Given the description of an element on the screen output the (x, y) to click on. 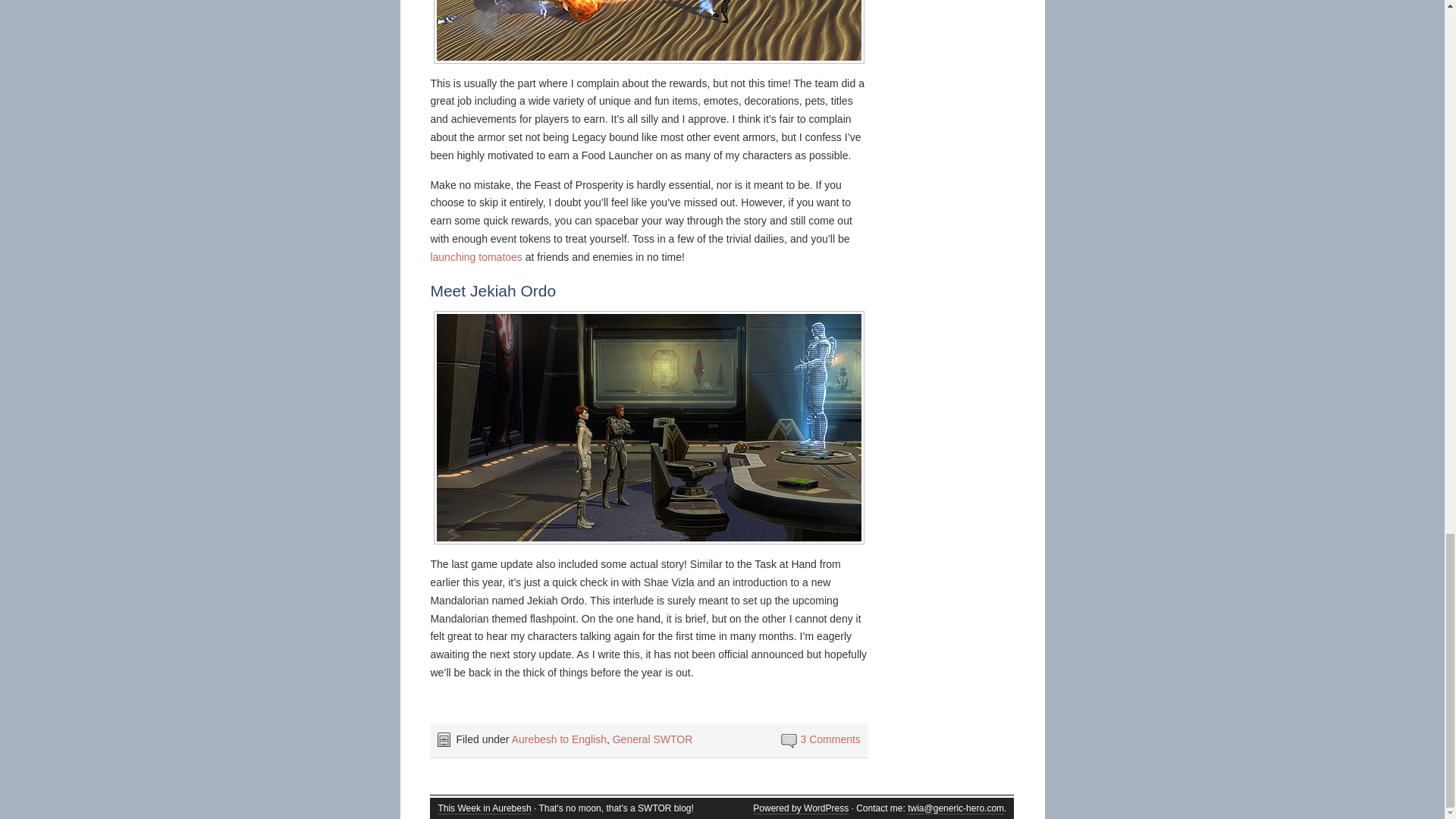
General SWTOR (652, 739)
A Semantic Personal Publishing Platform (800, 808)
3 Comments (830, 739)
launching tomatoes (475, 256)
Aurebesh to English (559, 739)
This Week in Aurebesh (484, 808)
